Given the description of an element on the screen output the (x, y) to click on. 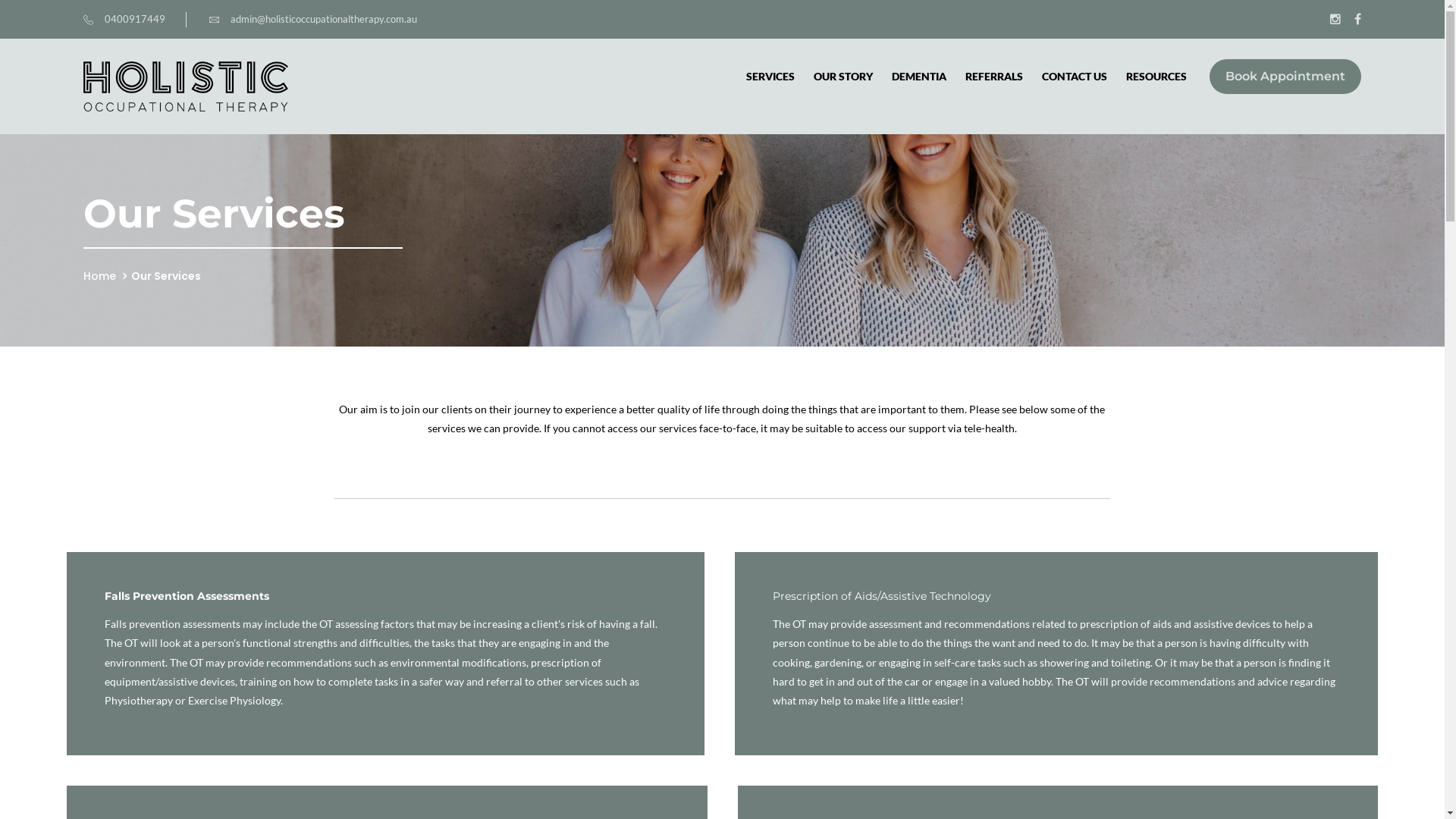
admin@holisticoccupationaltherapy.com.au Element type: text (313, 18)
Doxwell Element type: hover (185, 86)
Home Element type: text (99, 275)
RESOURCES Element type: text (1156, 76)
OUR STORY Element type: text (842, 76)
DEMENTIA Element type: text (918, 76)
0400917449 Element type: text (124, 18)
REFERRALS Element type: text (993, 76)
SERVICES Element type: text (770, 76)
CONTACT US Element type: text (1074, 76)
Book Appointment Element type: text (1285, 76)
